Given the description of an element on the screen output the (x, y) to click on. 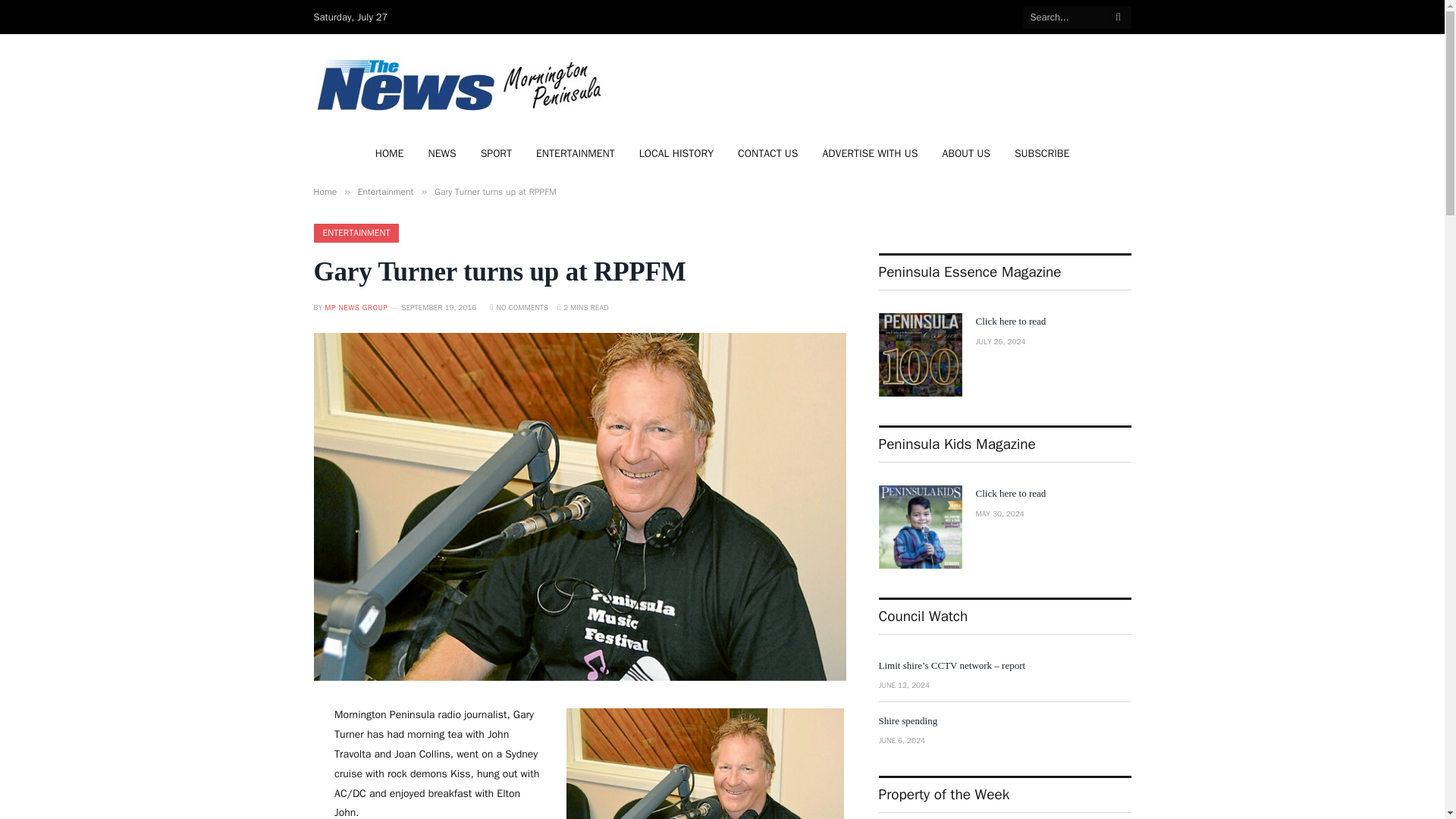
SPORT (496, 153)
NEWS (440, 153)
CONTACT US (767, 153)
MPNEWS (462, 84)
ENTERTAINMENT (356, 232)
Facebook (979, 17)
ADVERTISE WITH US (869, 153)
ENTERTAINMENT (575, 153)
HOME (389, 153)
ABOUT US (966, 153)
LOCAL HISTORY (676, 153)
Home (325, 191)
Entertainment (385, 191)
SUBSCRIBE (1042, 153)
